Given the description of an element on the screen output the (x, y) to click on. 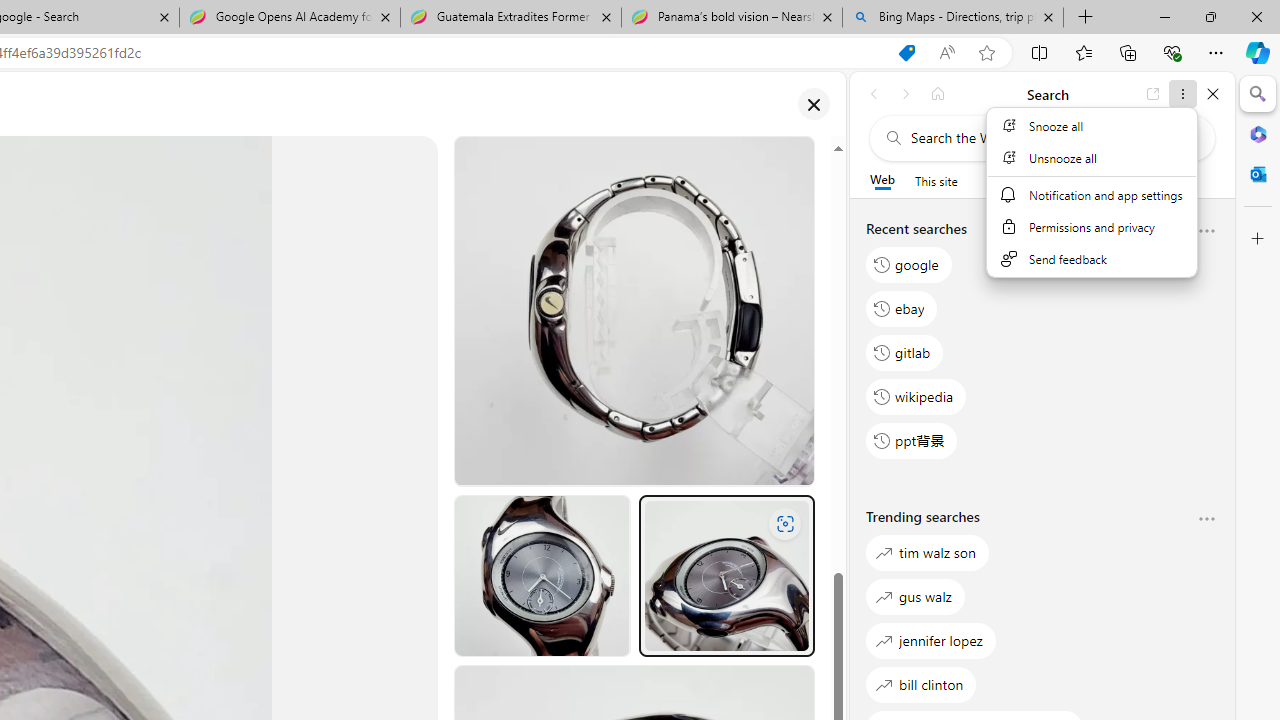
tim walz son (927, 552)
Open link in new tab (1153, 93)
Notification and app settings (1091, 194)
ebay (902, 308)
Context (1091, 204)
